Given the description of an element on the screen output the (x, y) to click on. 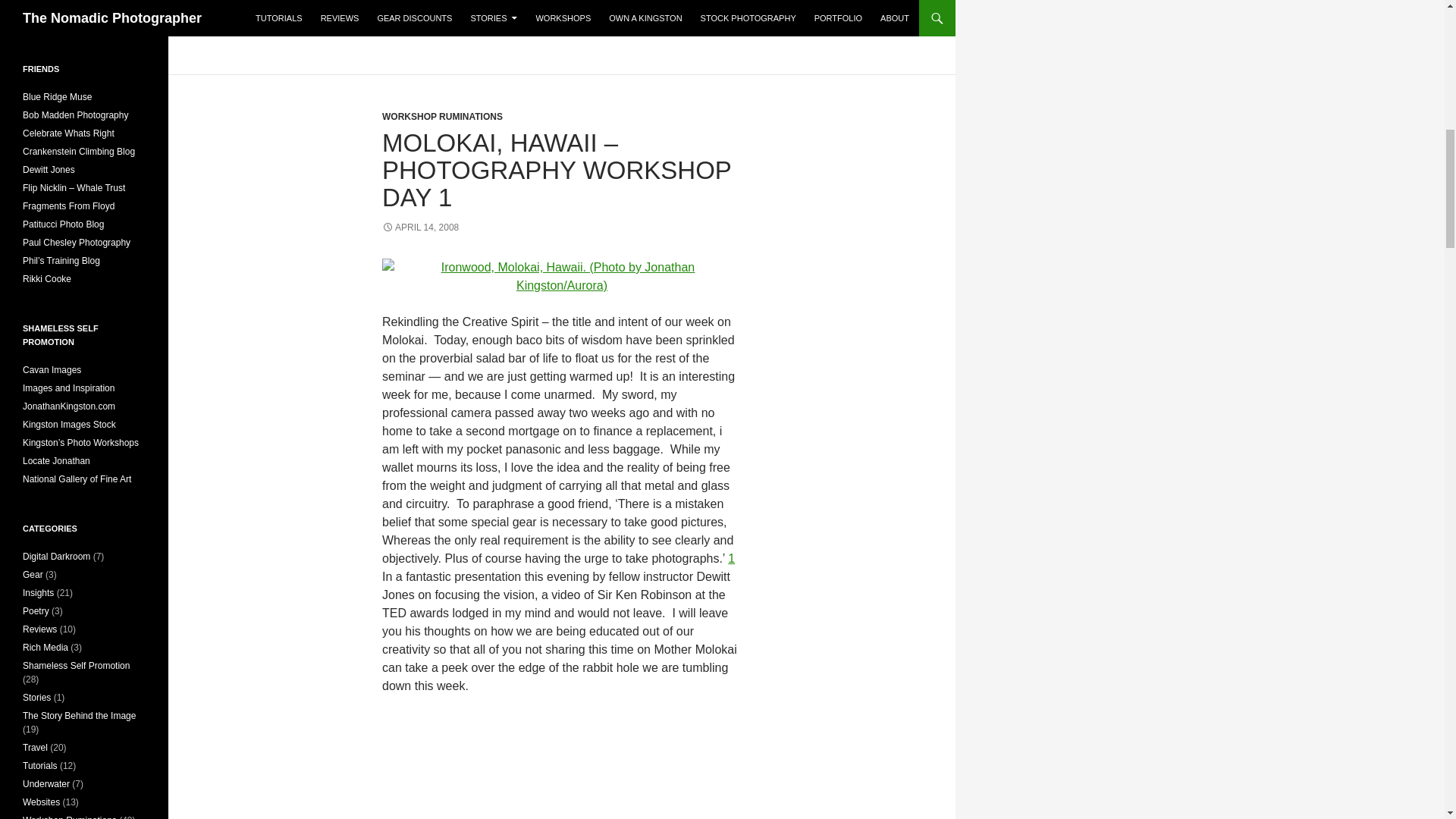
PHOTOGRAPHY (538, 28)
HAWAII (409, 28)
MOLOKAI (465, 28)
Sign up (52, 17)
WORKSHOP RUMINATIONS (441, 116)
APRIL 14, 2008 (419, 226)
p1060369 (561, 276)
PHOTOGRAPHY WORKSHOP (652, 28)
